Given the description of an element on the screen output the (x, y) to click on. 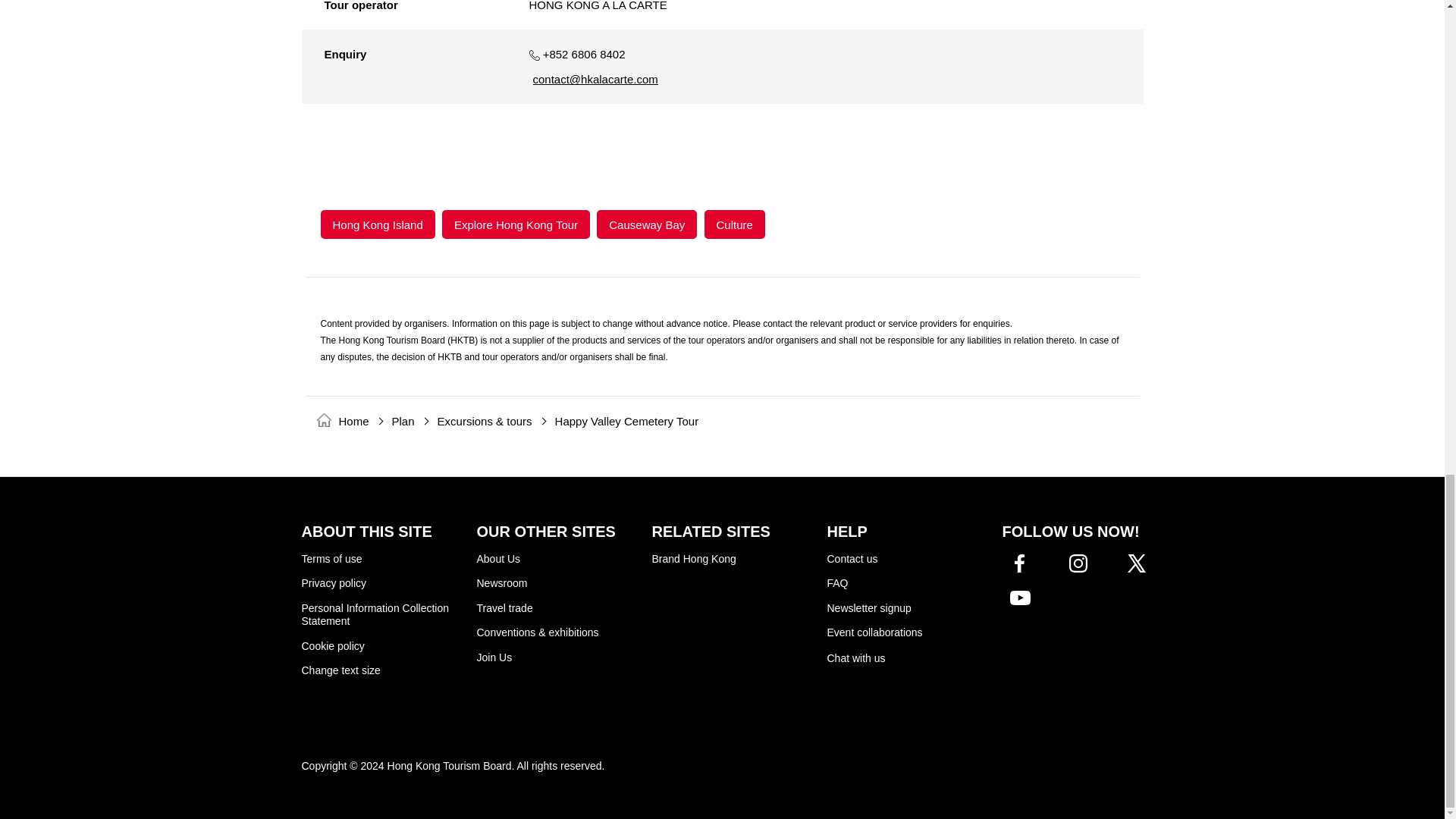
phone-handset (534, 54)
